Given the description of an element on the screen output the (x, y) to click on. 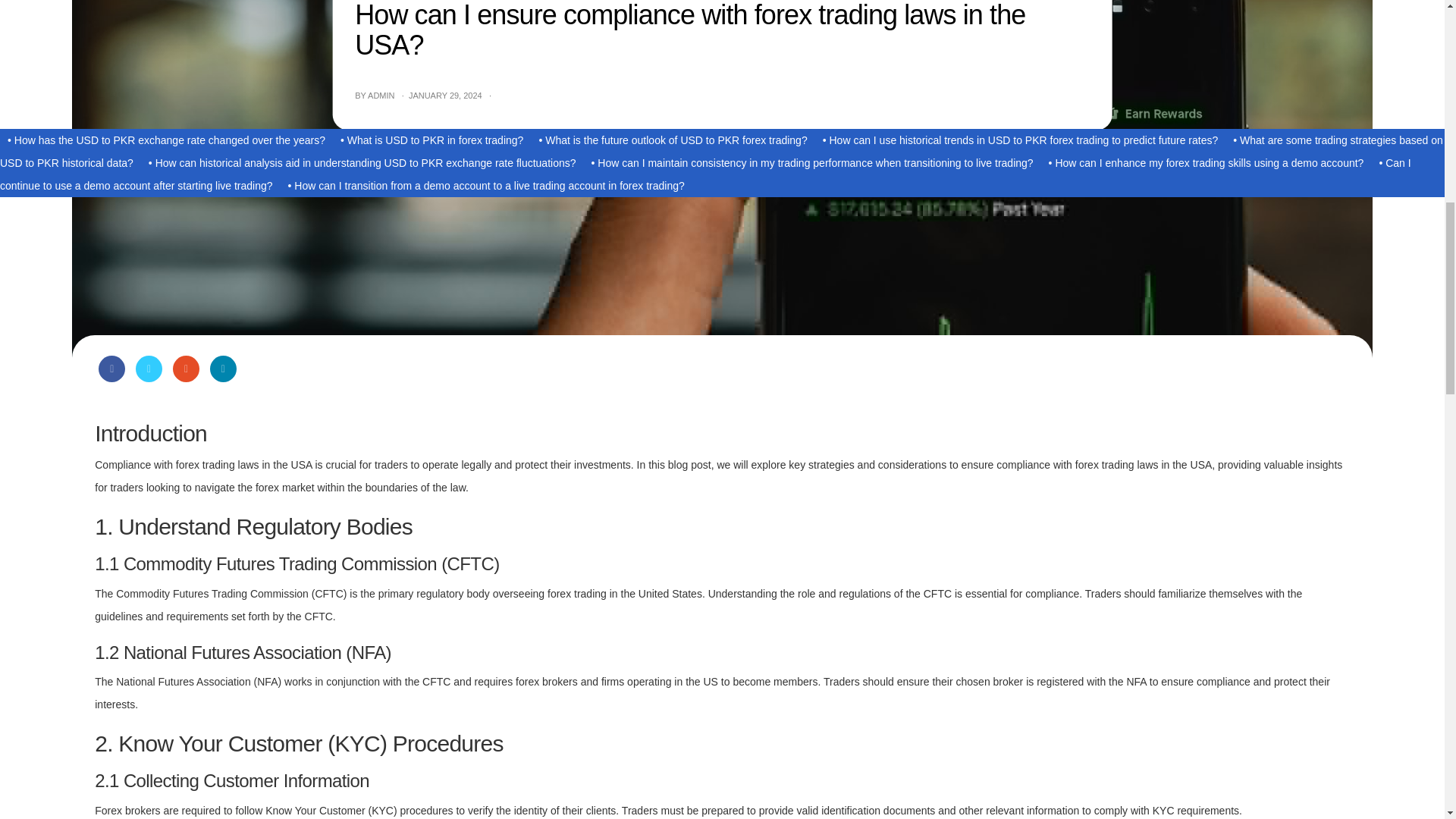
FX Pricing (749, 30)
